Given the description of an element on the screen output the (x, y) to click on. 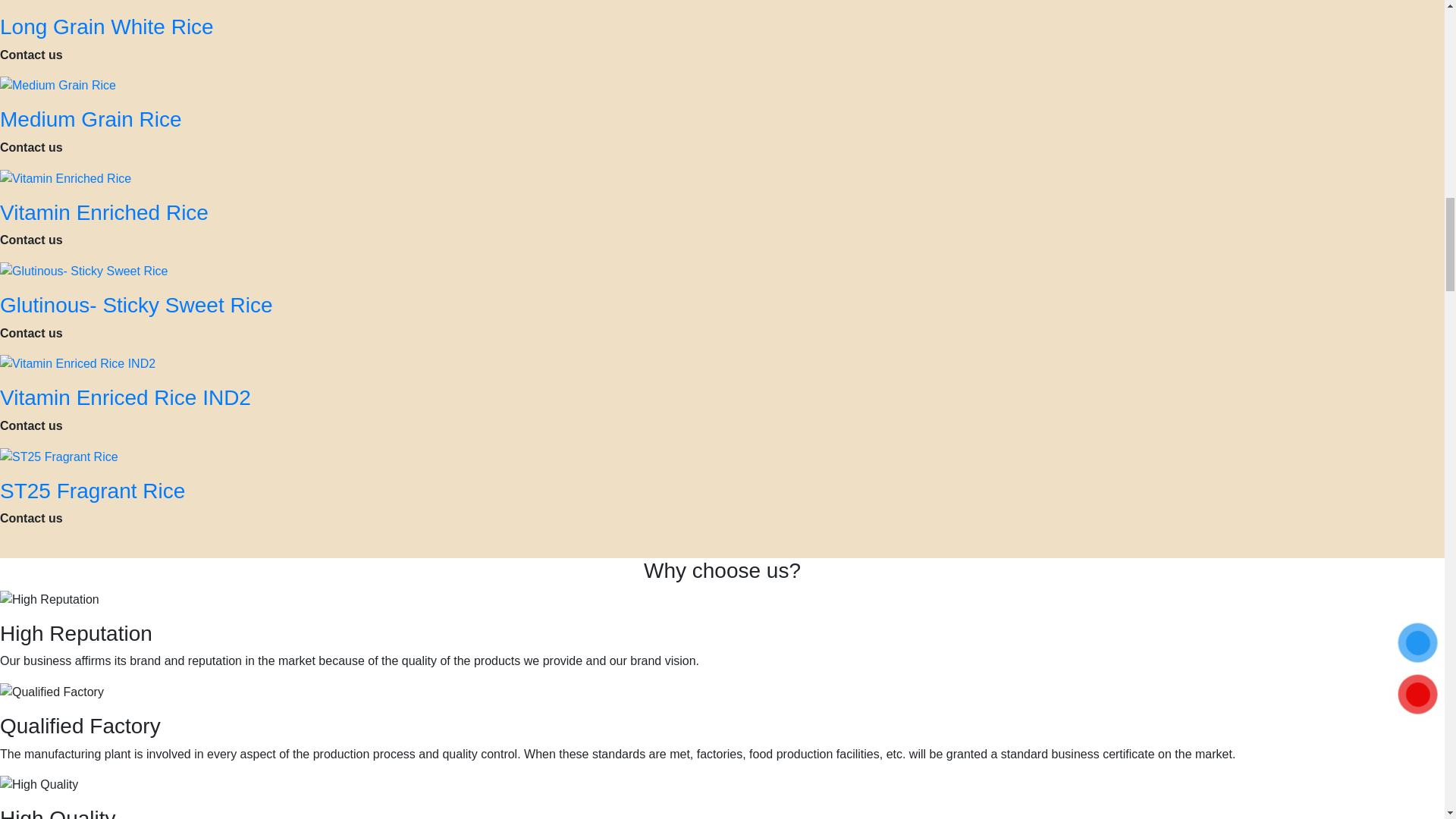
Medium Grain Rice (58, 84)
Long Grain White Rice (107, 26)
Medium Grain Rice (91, 119)
Long Grain White Rice  (107, 26)
Vitamin Enriched Rice (65, 177)
Vitamin Enriched Rice (104, 212)
Medium Grain Rice (91, 119)
